Given the description of an element on the screen output the (x, y) to click on. 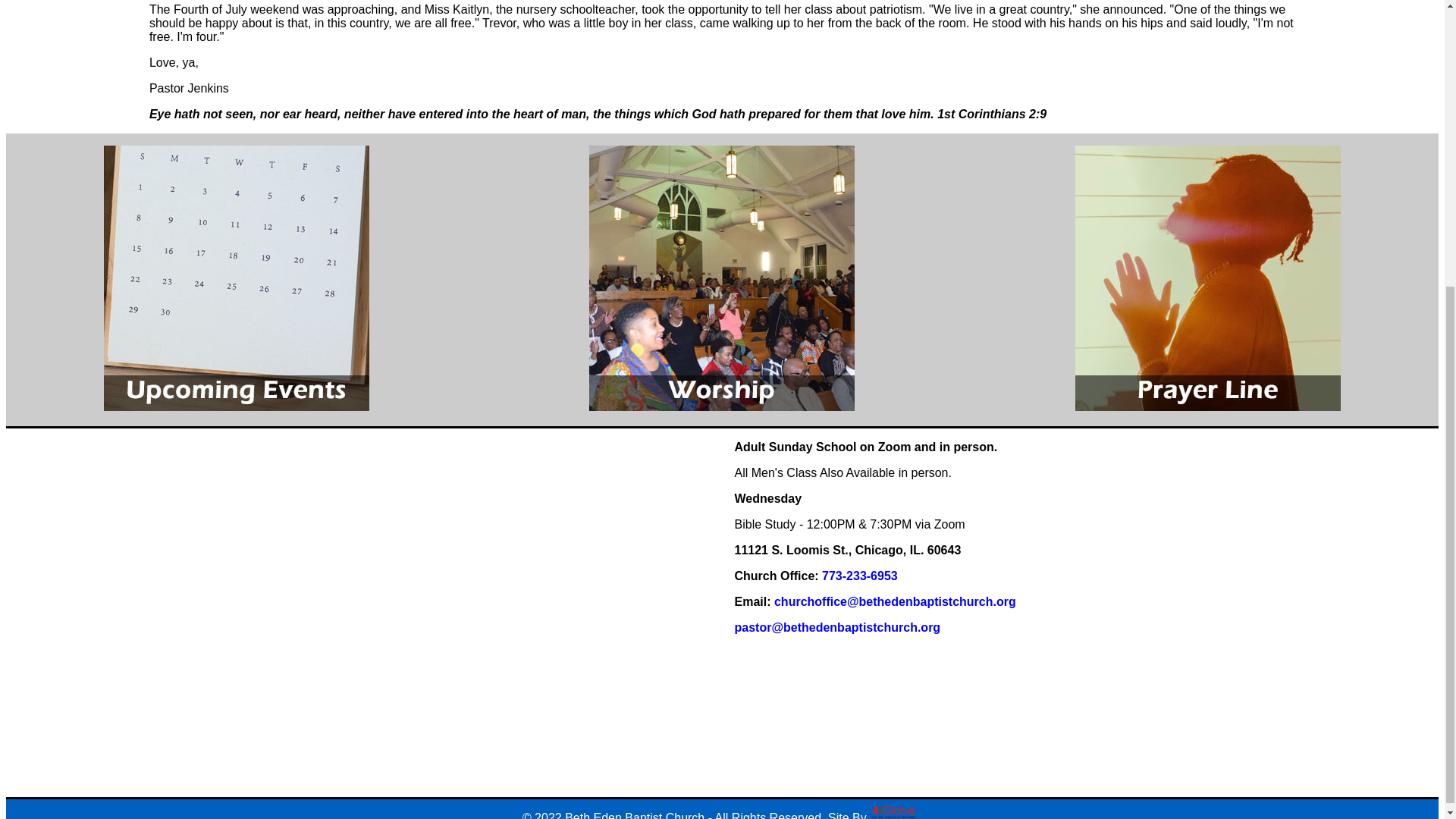
773-233-6953 (860, 575)
